Given the description of an element on the screen output the (x, y) to click on. 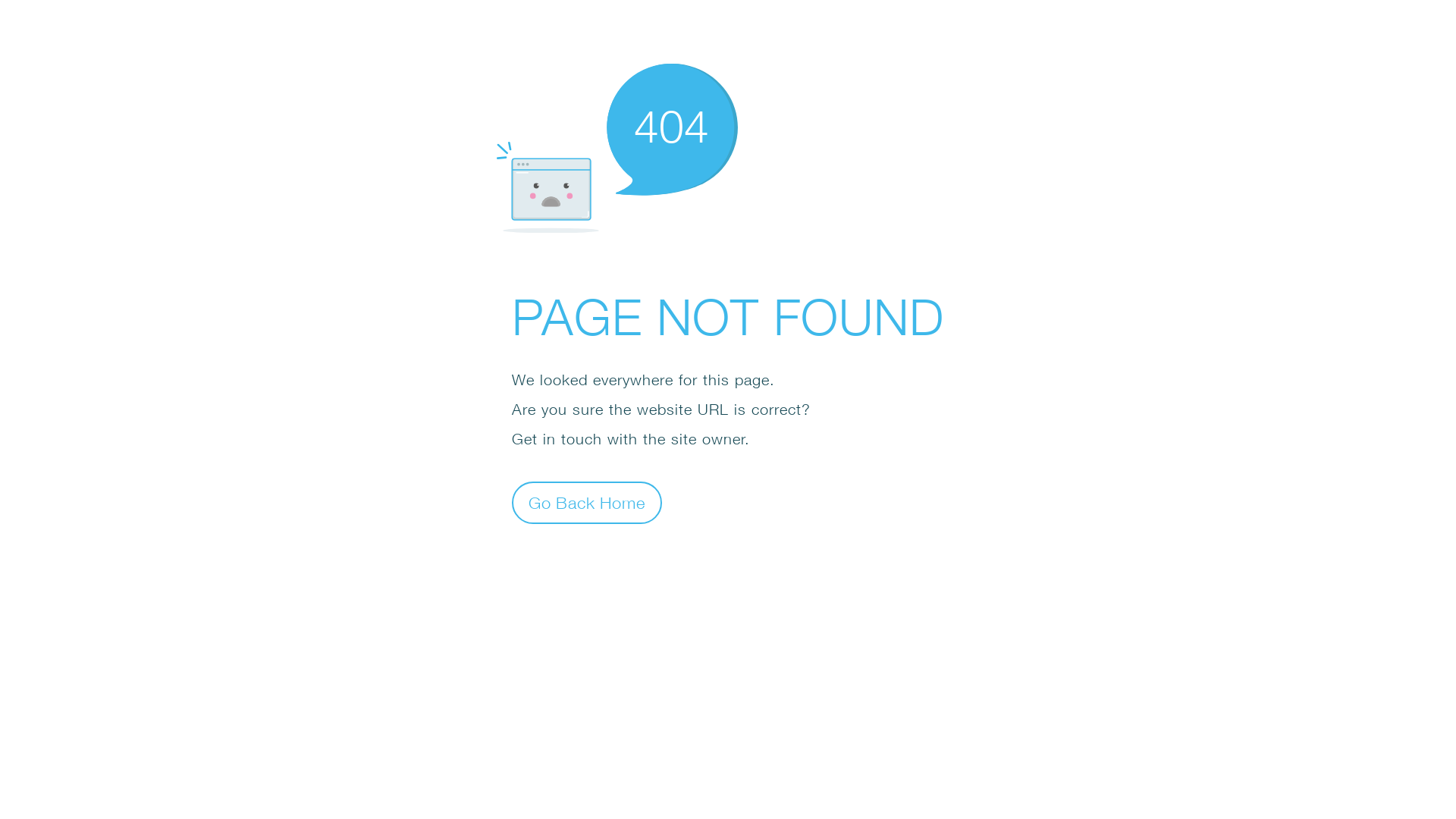
Go Back Home Element type: text (586, 502)
